Given the description of an element on the screen output the (x, y) to click on. 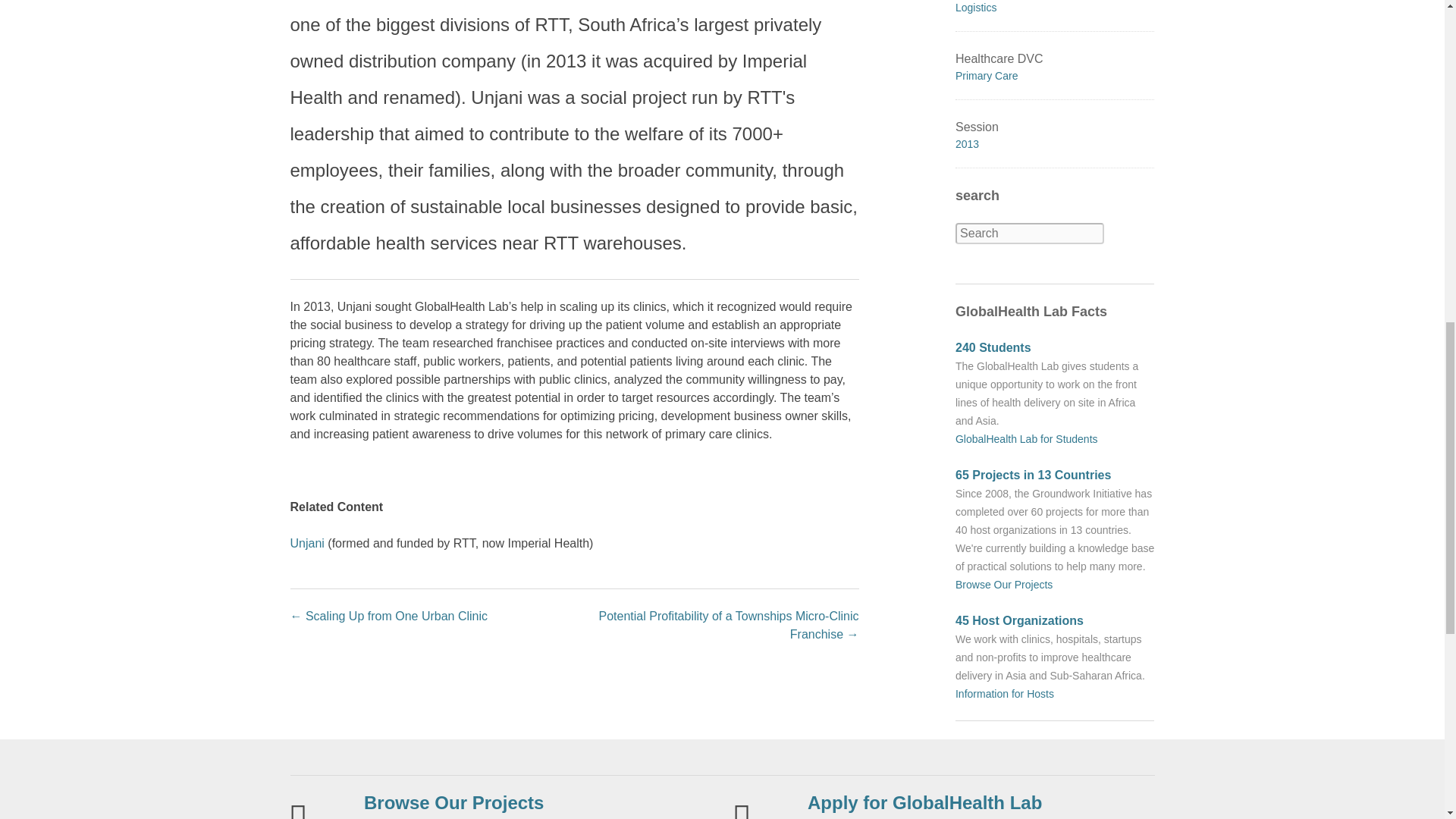
Unjani (306, 543)
